Given the description of an element on the screen output the (x, y) to click on. 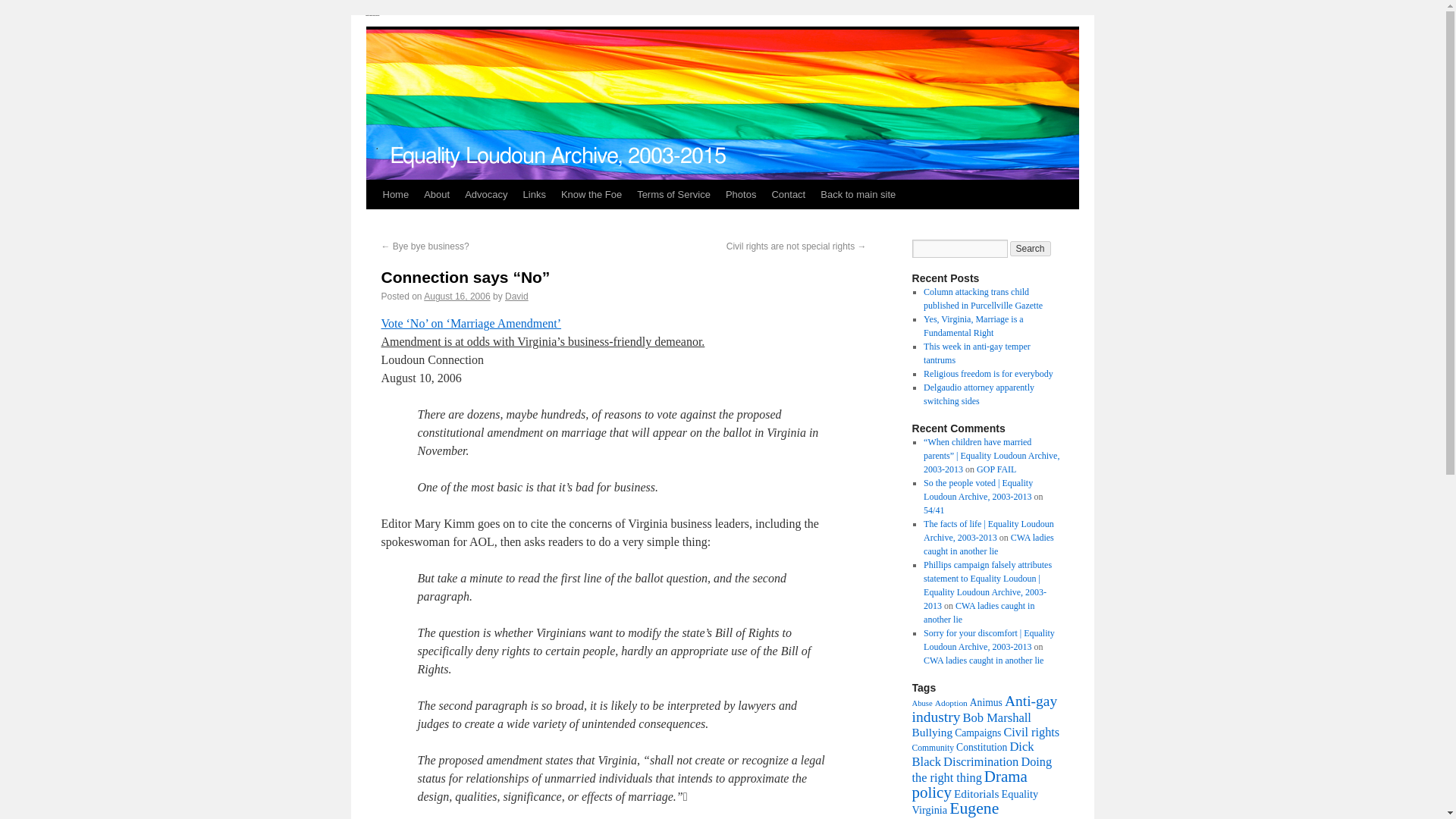
Terms of Service (672, 194)
Advocacy (486, 194)
Home (395, 194)
David (516, 296)
Photos (739, 194)
View all posts by David (516, 296)
Back to main site (857, 194)
Contact (787, 194)
Know the Foe (590, 194)
